Given the description of an element on the screen output the (x, y) to click on. 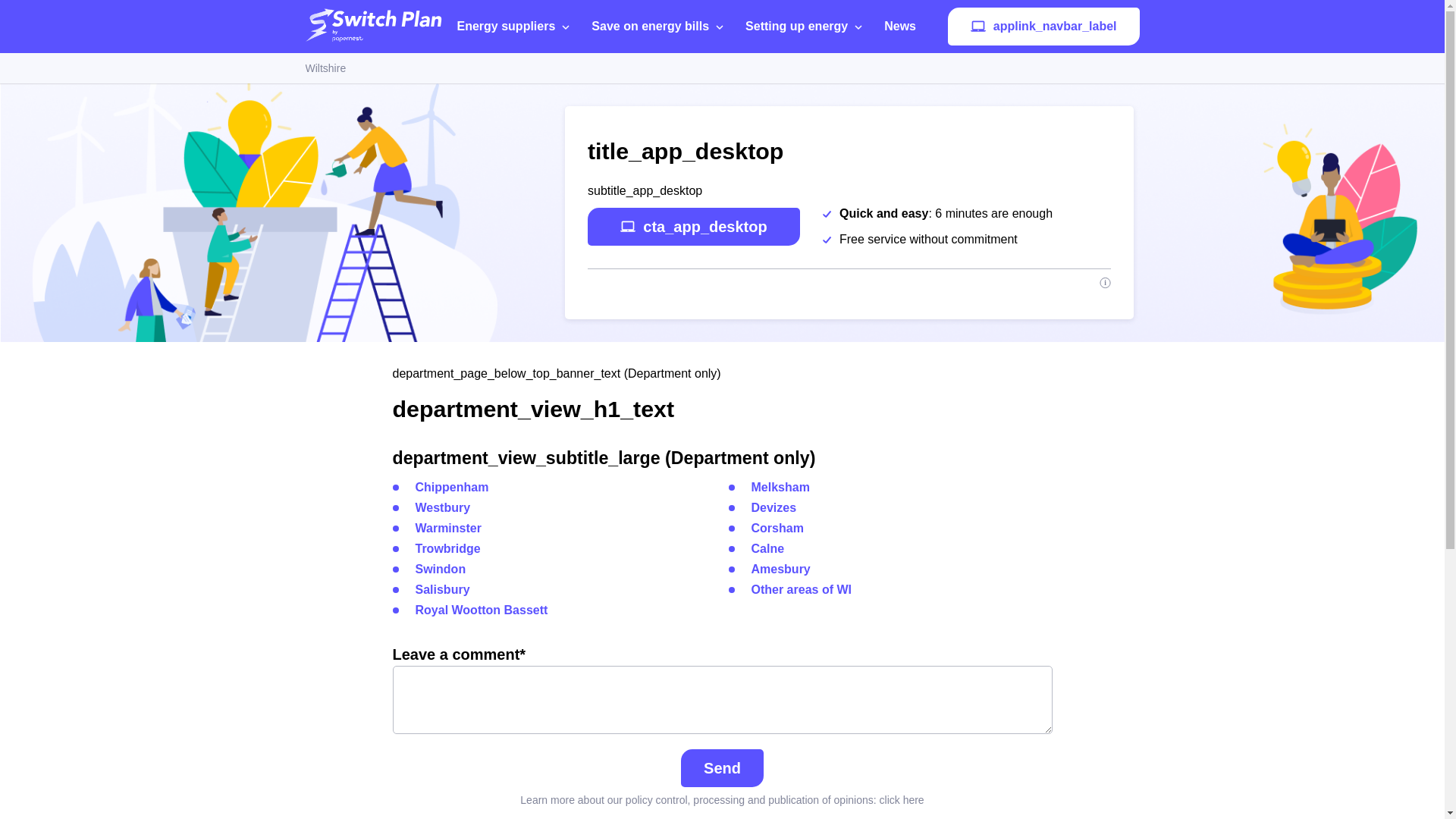
Save on energy bills (660, 26)
Save on energy bills (660, 26)
Energy suppliers (515, 26)
Setting up energy (807, 26)
Energy suppliers (515, 26)
Wiltshire (325, 68)
